Given the description of an element on the screen output the (x, y) to click on. 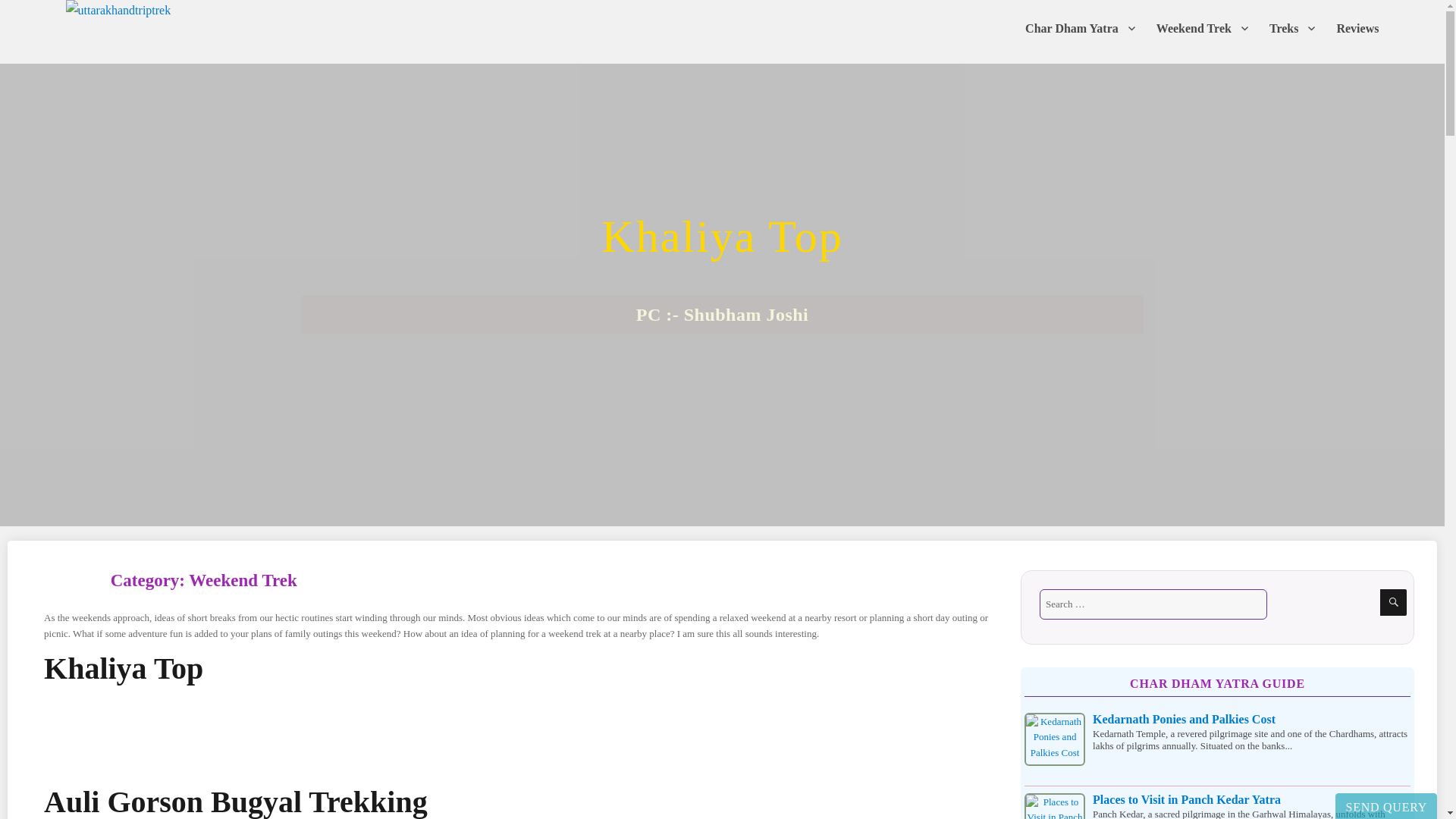
Weekend Trek (1202, 28)
Reviews (1356, 28)
Char Dham Yatra (1079, 28)
Treks (1292, 28)
